Given the description of an element on the screen output the (x, y) to click on. 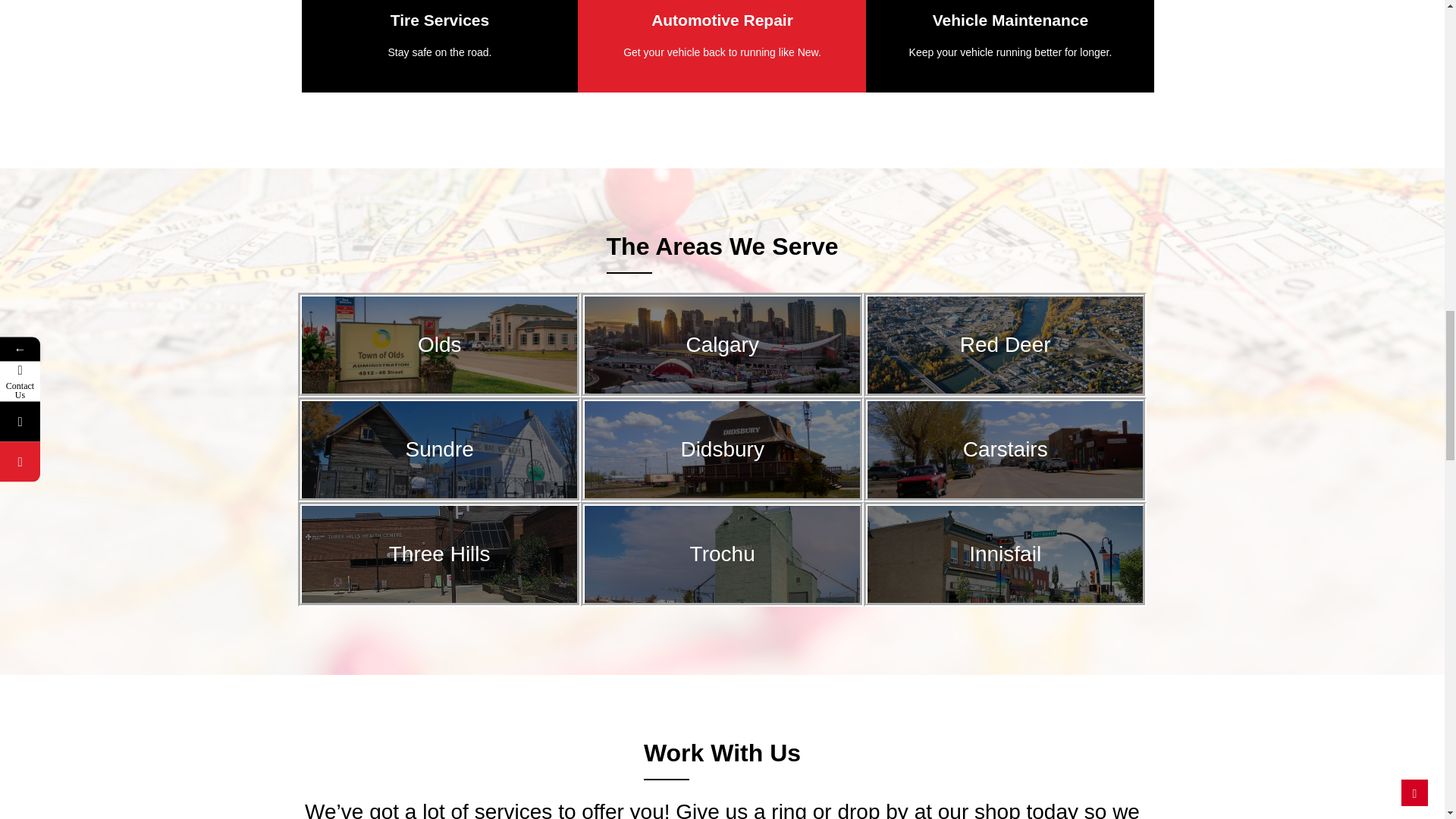
Calgary (721, 344)
Olds (438, 344)
